Given the description of an element on the screen output the (x, y) to click on. 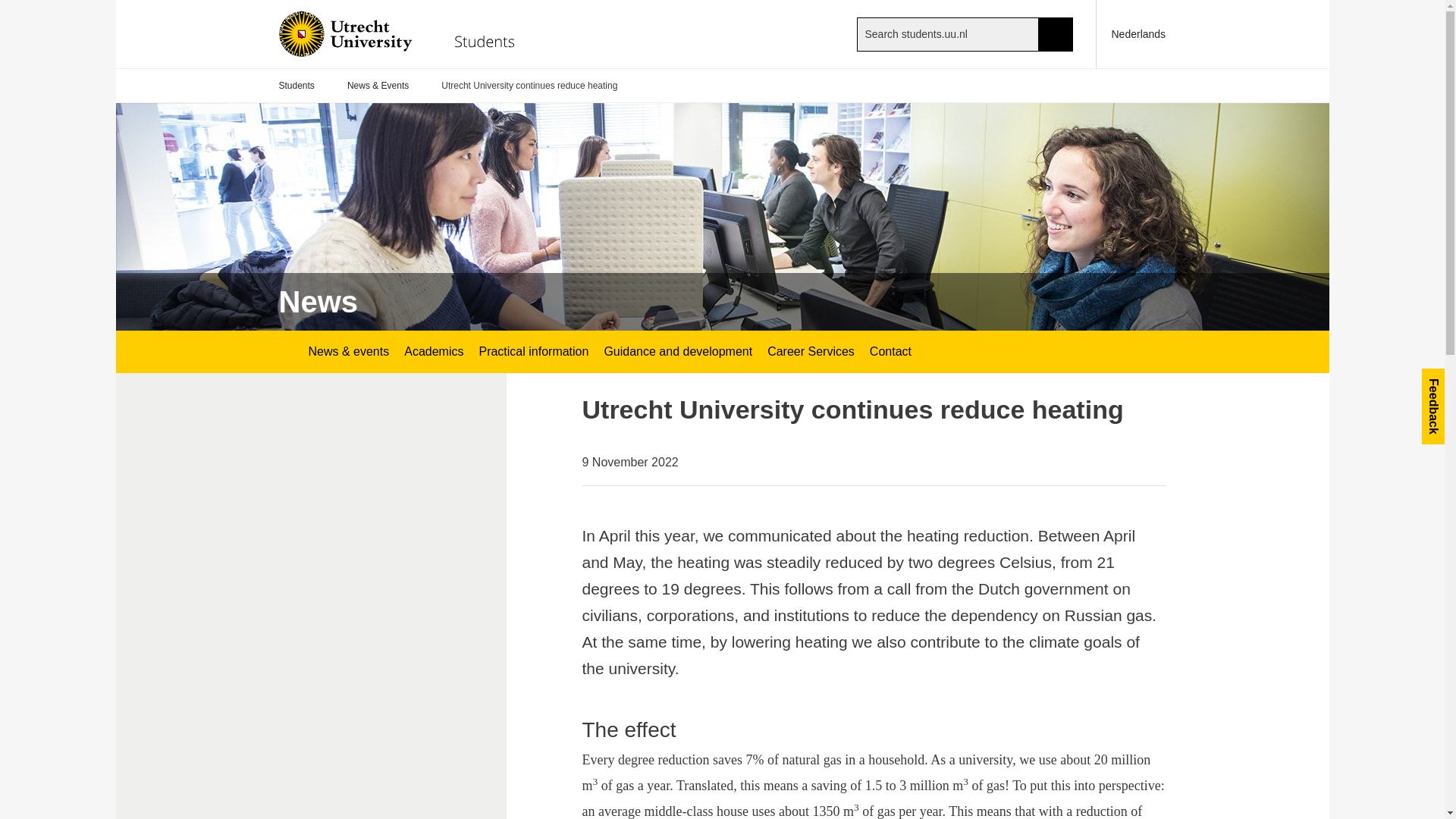
SEARCH (1056, 33)
Students UU (284, 351)
Guidance and development (677, 351)
Nederlands (1131, 33)
Career Services (810, 351)
Practical information (532, 351)
Academics (433, 351)
Contact (889, 351)
Skip to main content (7, 7)
Students (296, 85)
Home (408, 33)
